Given the description of an element on the screen output the (x, y) to click on. 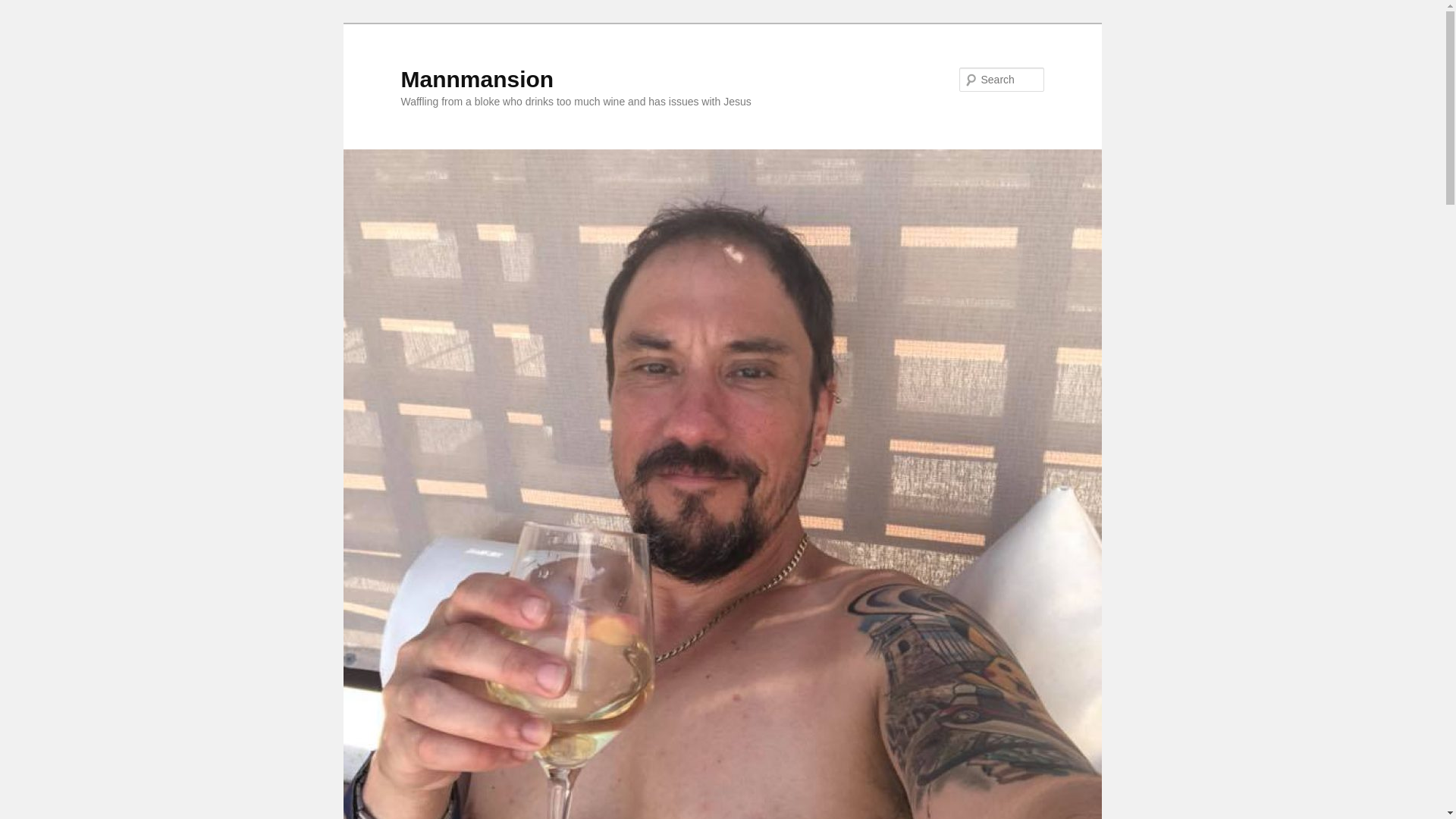
Mannmansion (476, 78)
Search (21, 11)
Search (24, 8)
